Given the description of an element on the screen output the (x, y) to click on. 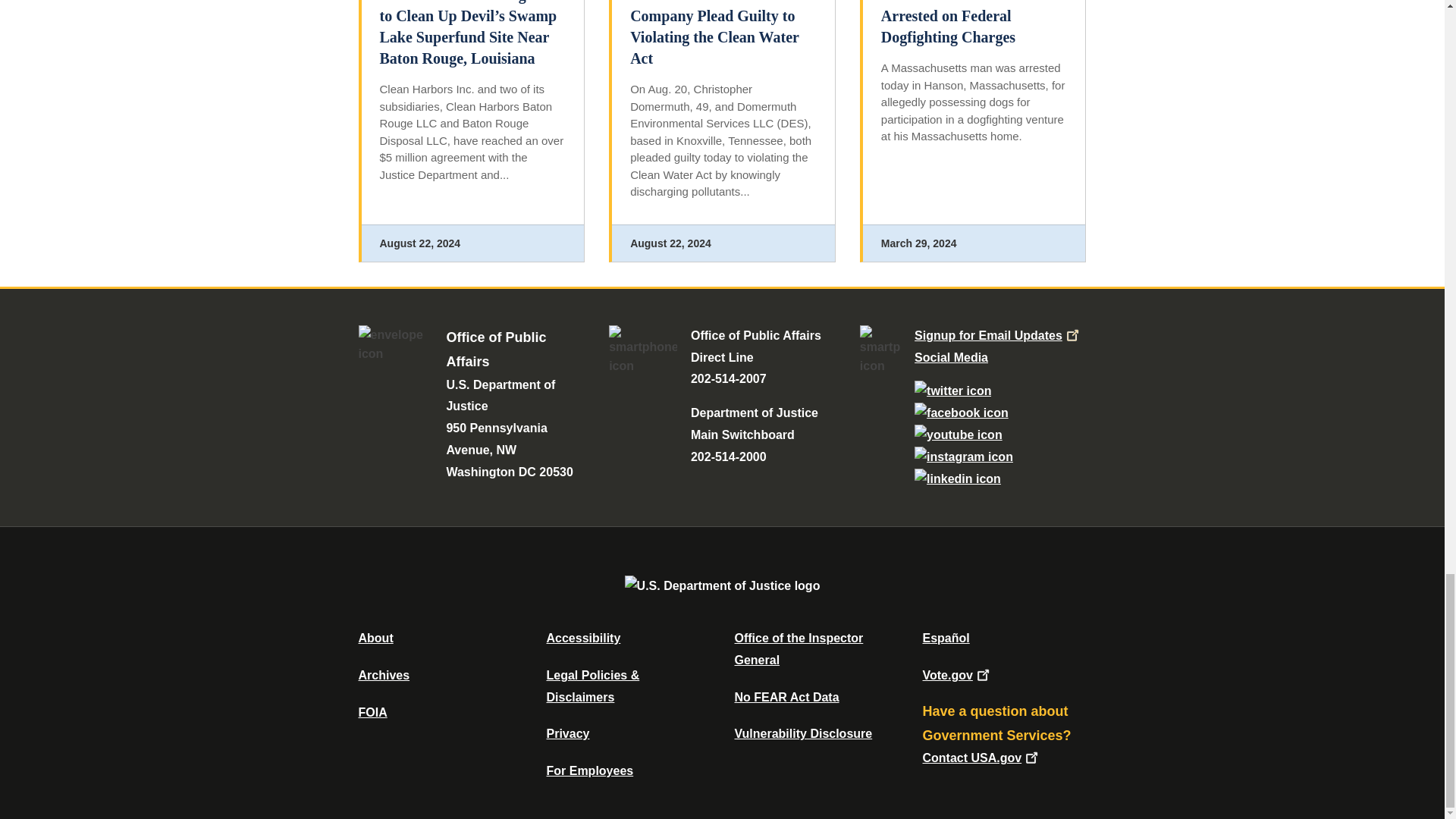
Legal Policies and Disclaimers (592, 686)
Data Posted Pursuant To The No Fear Act (785, 697)
Accessibility Statement (583, 637)
For Employees (589, 770)
About DOJ (375, 637)
Office of Information Policy (372, 712)
Department of Justice Archive (383, 675)
